Given the description of an element on the screen output the (x, y) to click on. 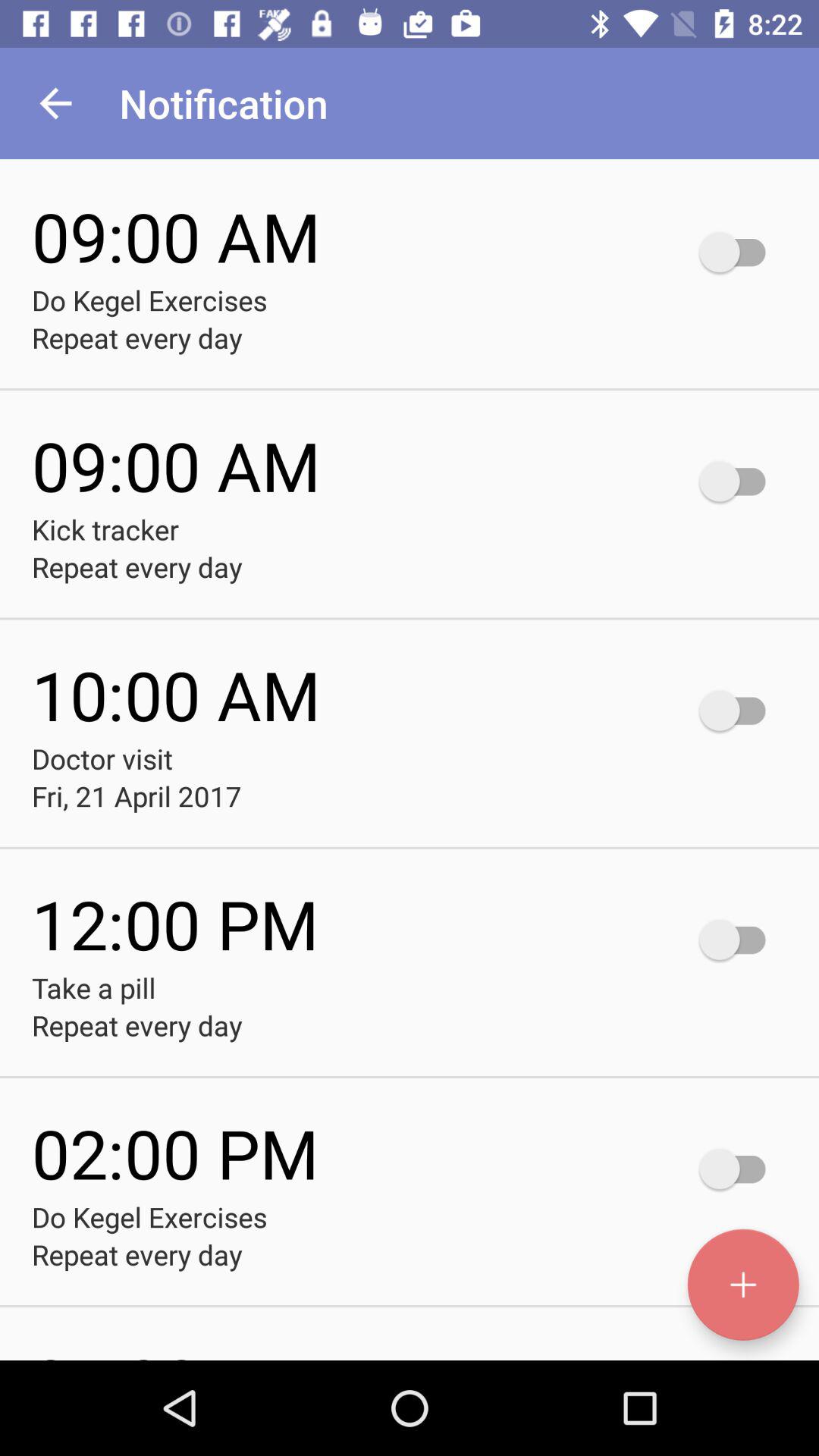
select the last enable option (739, 1168)
select the icon right side text 1200 pm (739, 939)
click on notification on button which is in 1000am right side to doctor visit (739, 711)
click on the button to the right of time 0900am do kegel excercises repeat every day (739, 252)
